Given the description of an element on the screen output the (x, y) to click on. 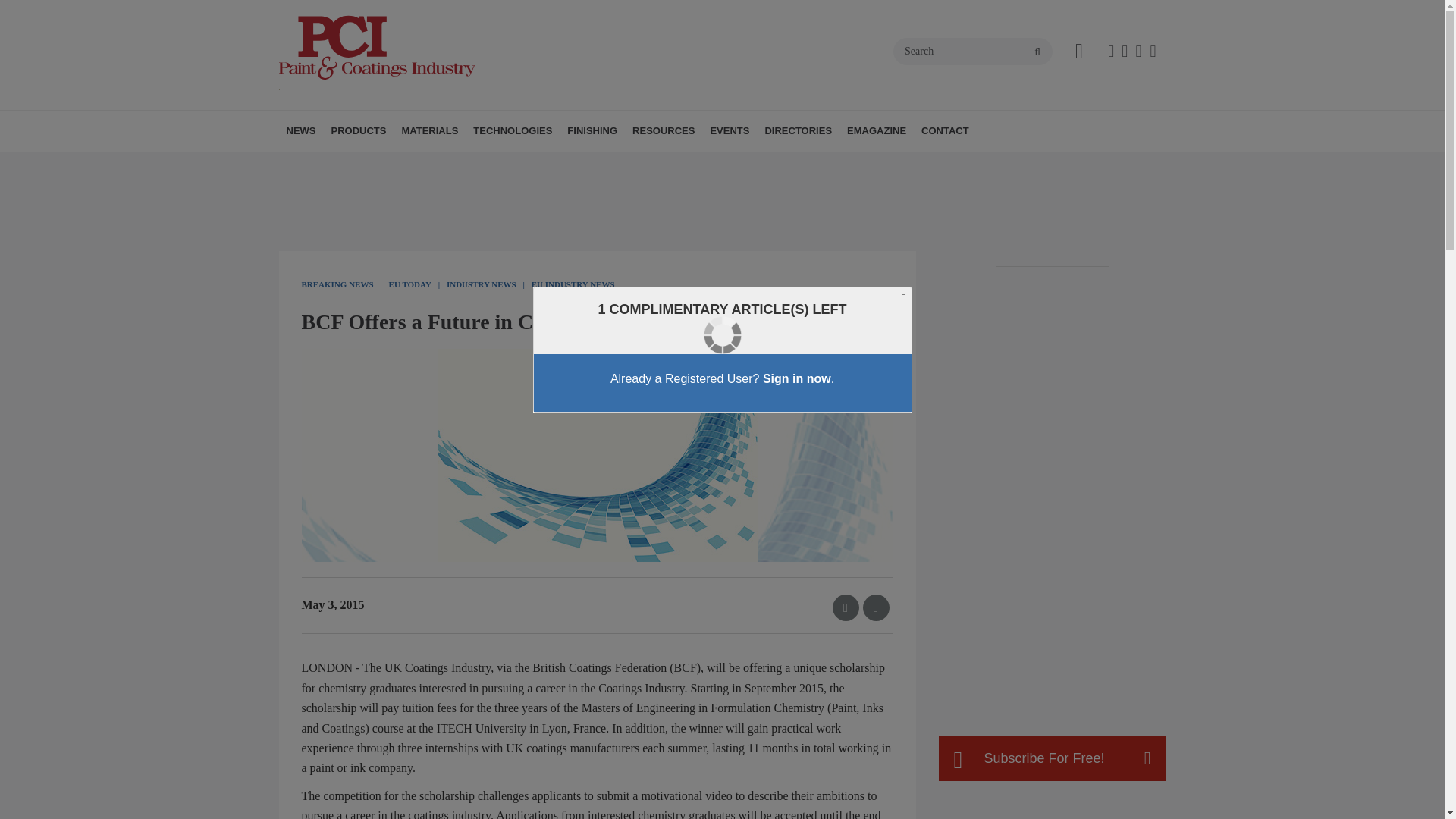
INDUSTRIAL COATINGS (573, 164)
PRODUCT NEWS (417, 164)
POWDER COATINGS (583, 164)
WEEKLY FEATURED ARTICLE (400, 164)
EQUIPMENT (507, 164)
LATEST NEWS (373, 164)
SOLVENTBORNE (587, 164)
Search (972, 51)
ADDITIVES (488, 164)
DISTRIBUTORS (512, 164)
